Given the description of an element on the screen output the (x, y) to click on. 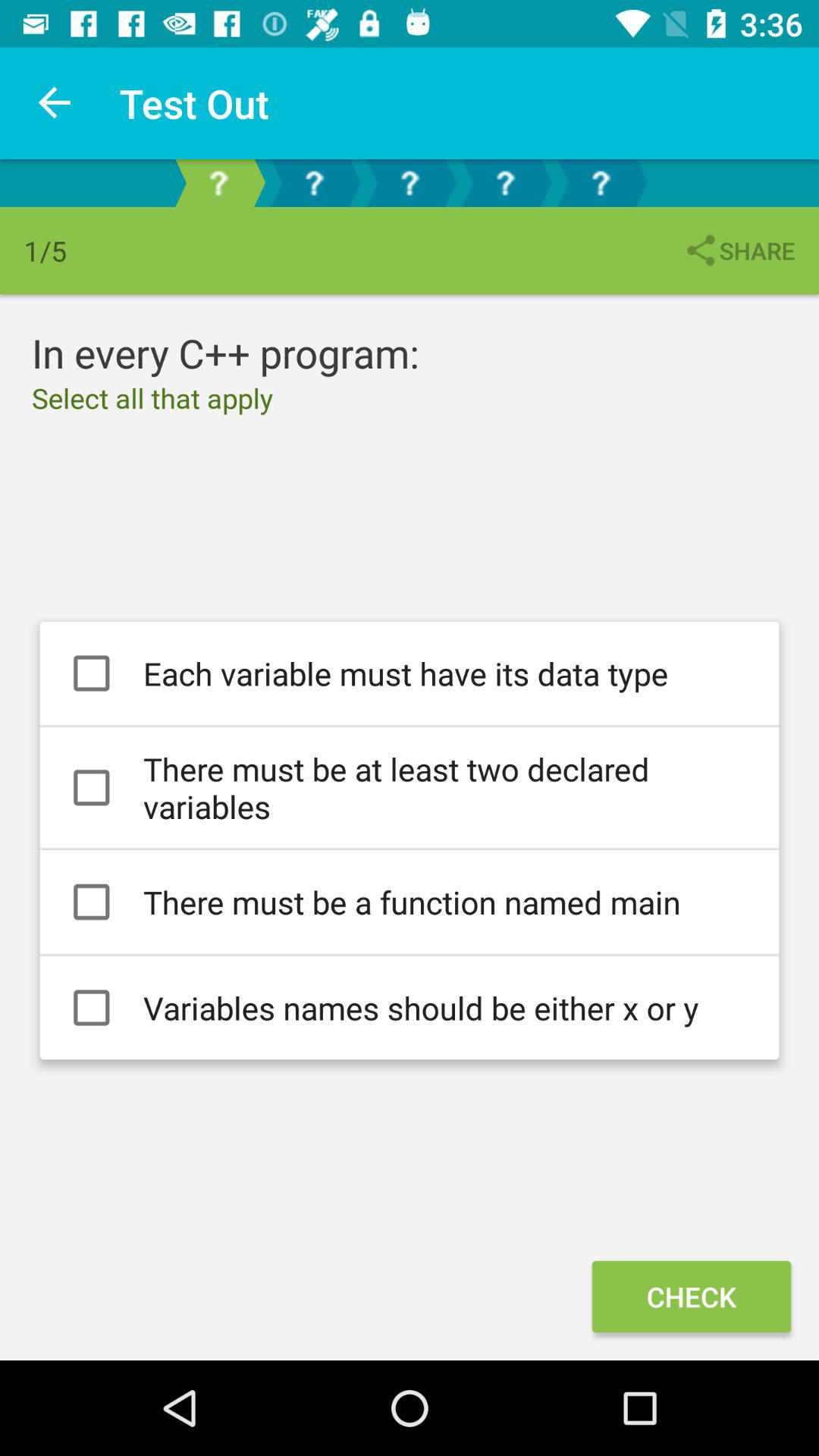
press the question mark (504, 183)
